Given the description of an element on the screen output the (x, y) to click on. 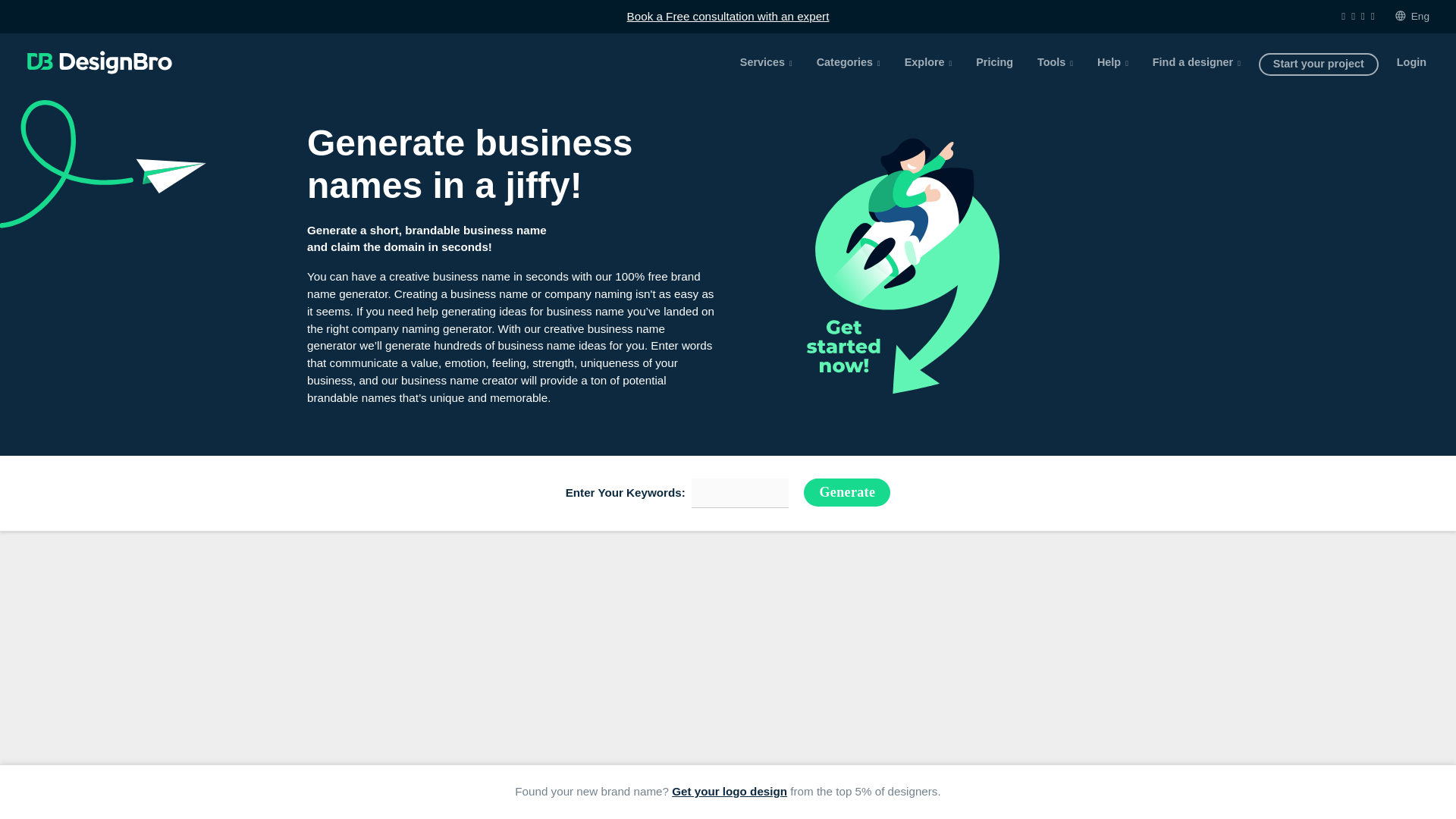
Categories (848, 62)
Explore (928, 62)
Eng (1411, 16)
Book a Free consultation with an expert (728, 15)
Services (765, 62)
